Given the description of an element on the screen output the (x, y) to click on. 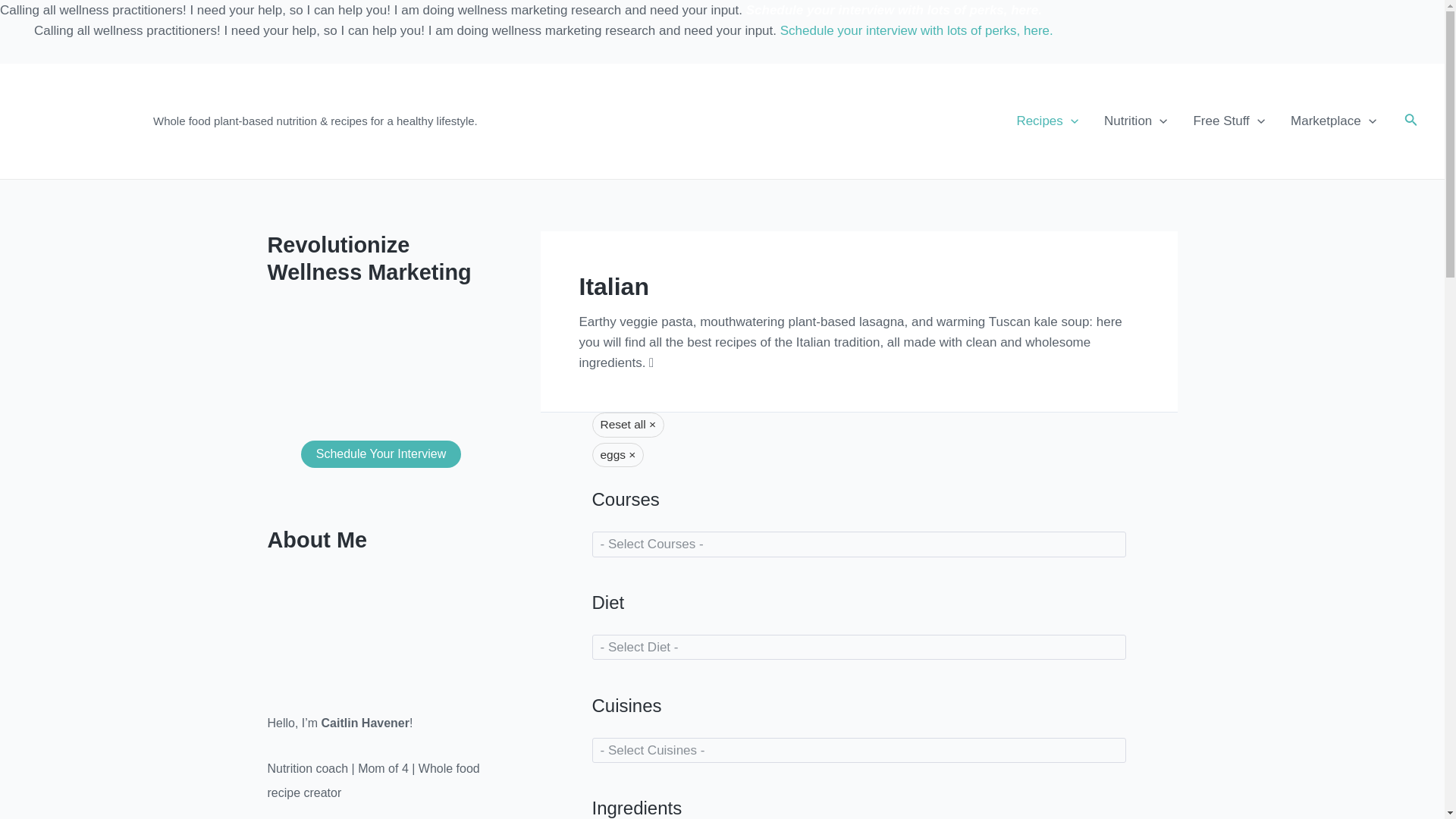
Vimeo Video (380, 359)
Schedule your interview with lots of perks, here. (916, 30)
Schedule your interview with lots of perks, here. (893, 10)
Recipes (1046, 120)
